Given the description of an element on the screen output the (x, y) to click on. 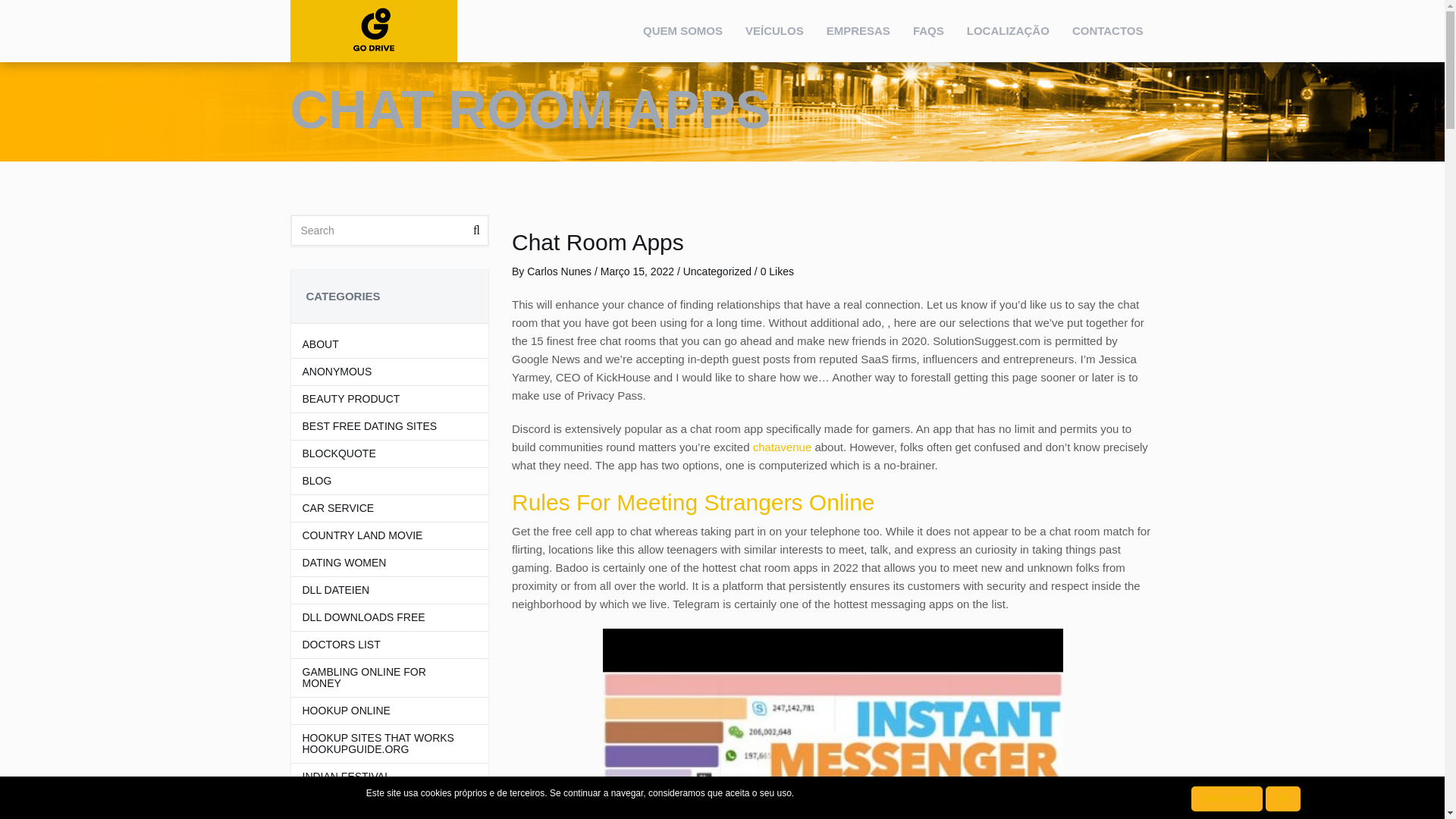
EMPRESAS (858, 31)
HOOKUP SITES THAT WORKS HOOKUPGUIDE.ORG (381, 743)
DATING WOMEN (381, 562)
QUEM SOMOS (682, 31)
CAR SERVICE (381, 508)
GAMBLING ONLINE FOR MONEY (381, 677)
BEAUTY PRODUCT (381, 398)
DLL DATEIEN (381, 590)
BLOCKQUOTE (381, 453)
INDIAN FESTIVAL (381, 776)
DOCTORS LIST (381, 644)
CONTACTOS (1107, 31)
ANONYMOUS (381, 371)
DLL DOWNLOADS FREE (381, 617)
LADDA NER DLL (381, 803)
